Given the description of an element on the screen output the (x, y) to click on. 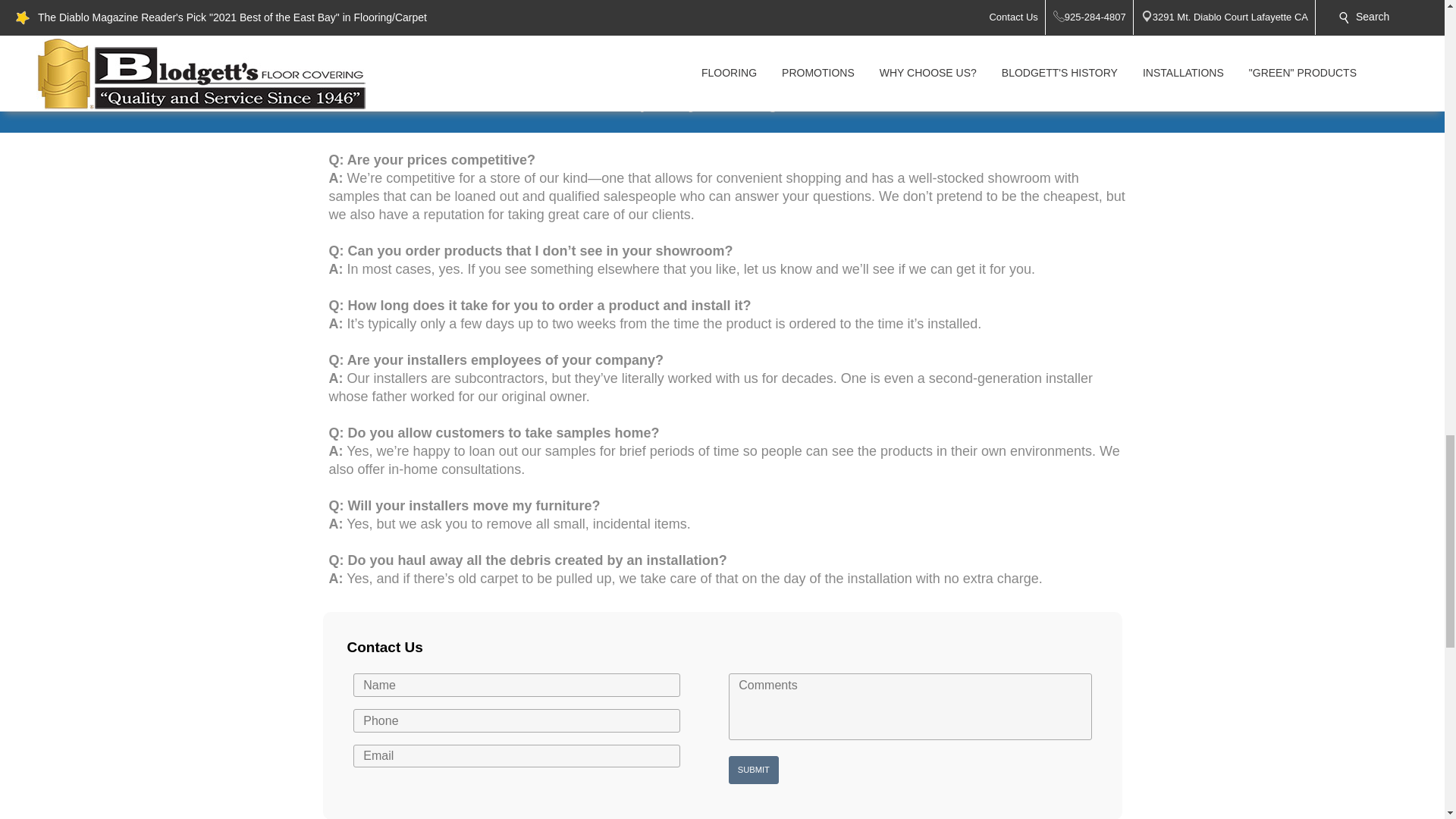
Submit (753, 769)
